Given the description of an element on the screen output the (x, y) to click on. 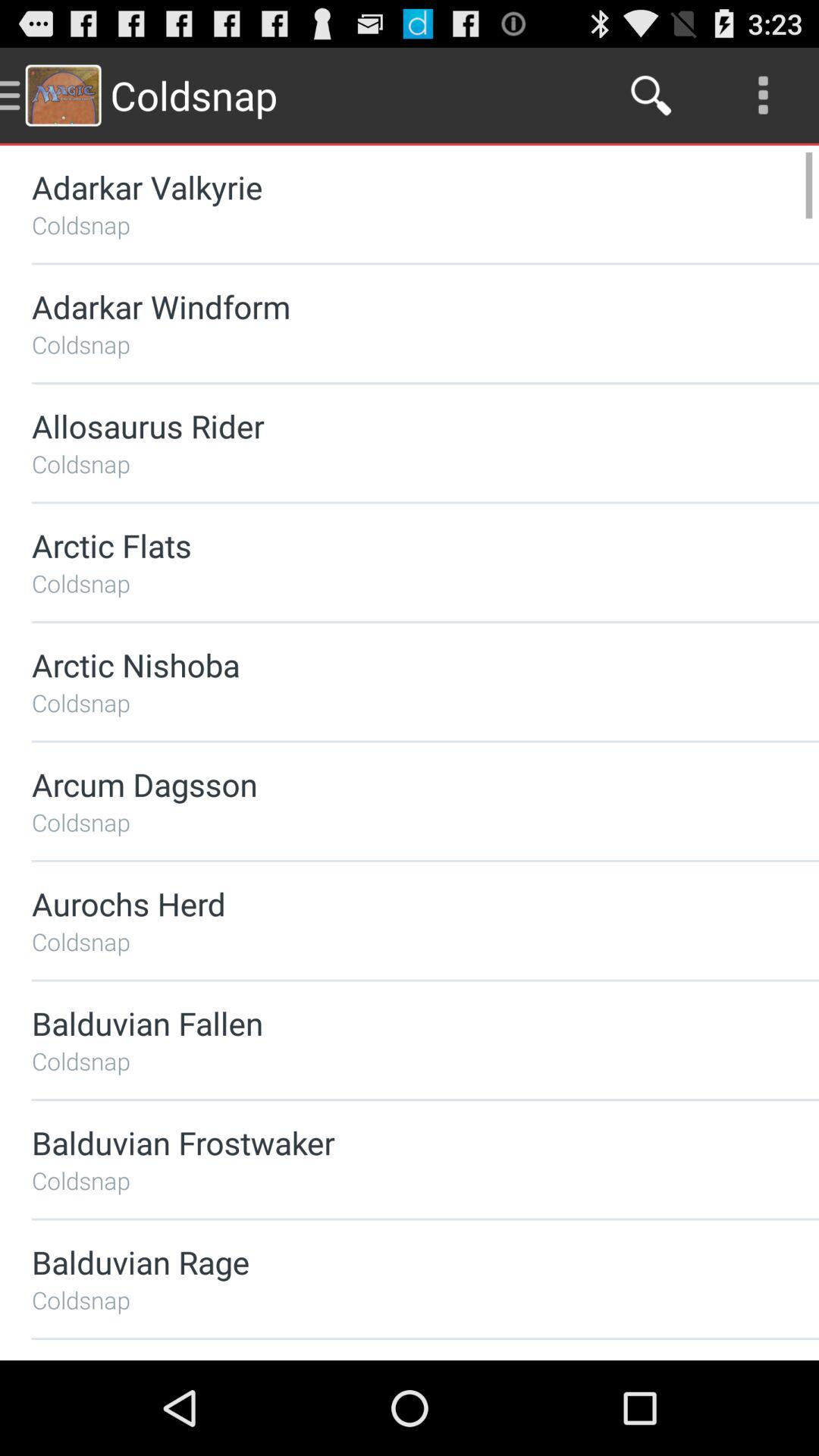
turn on item above the coldsnap (385, 783)
